Given the description of an element on the screen output the (x, y) to click on. 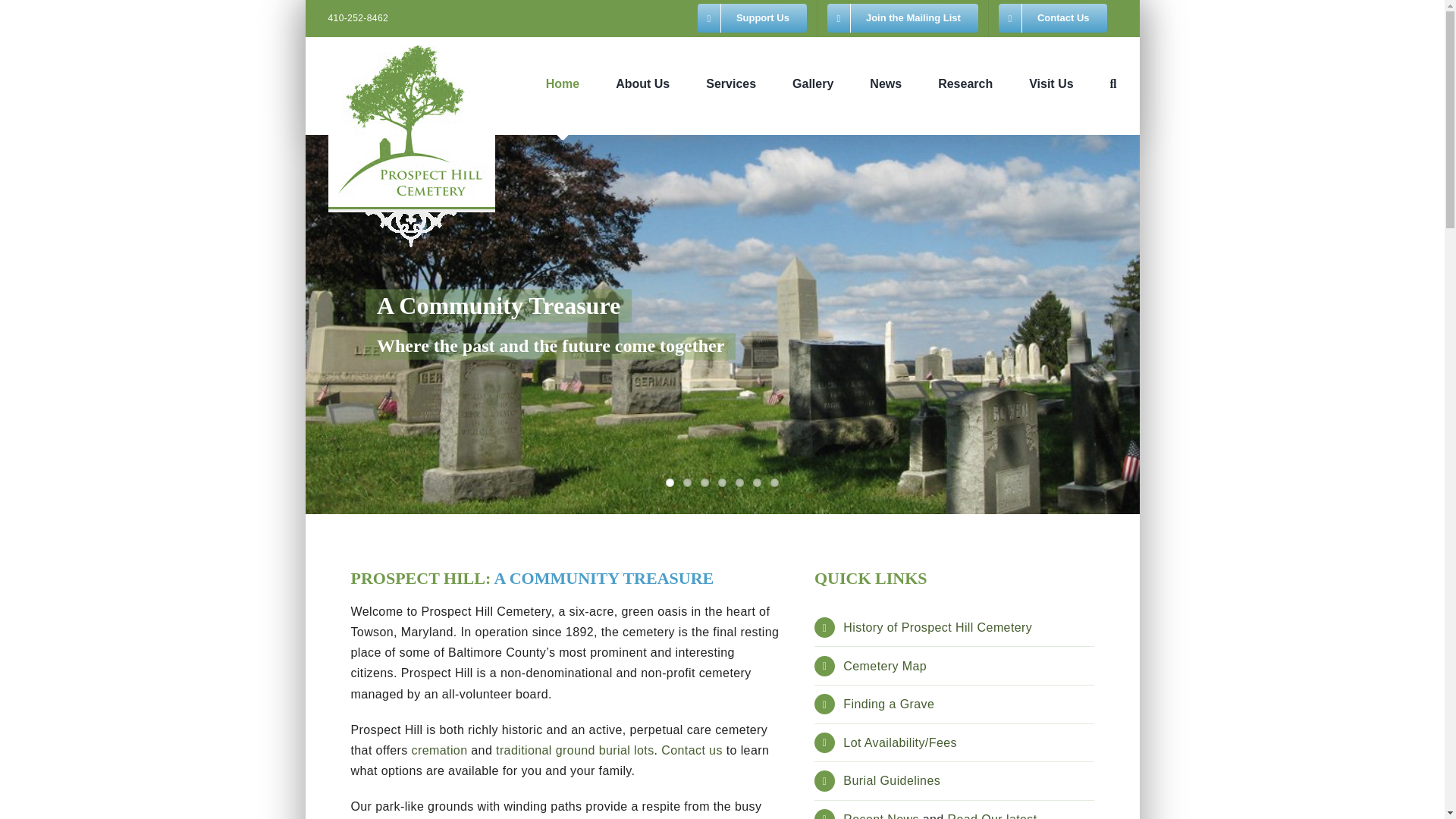
Visit Us (1051, 83)
410-252-8462 (357, 18)
Gallery (812, 83)
Research (964, 83)
About Us (642, 83)
Join the Mailing List (902, 18)
News (885, 83)
Services (730, 83)
Support Us (751, 18)
Contact Us (1052, 18)
Home (562, 83)
